Given the description of an element on the screen output the (x, y) to click on. 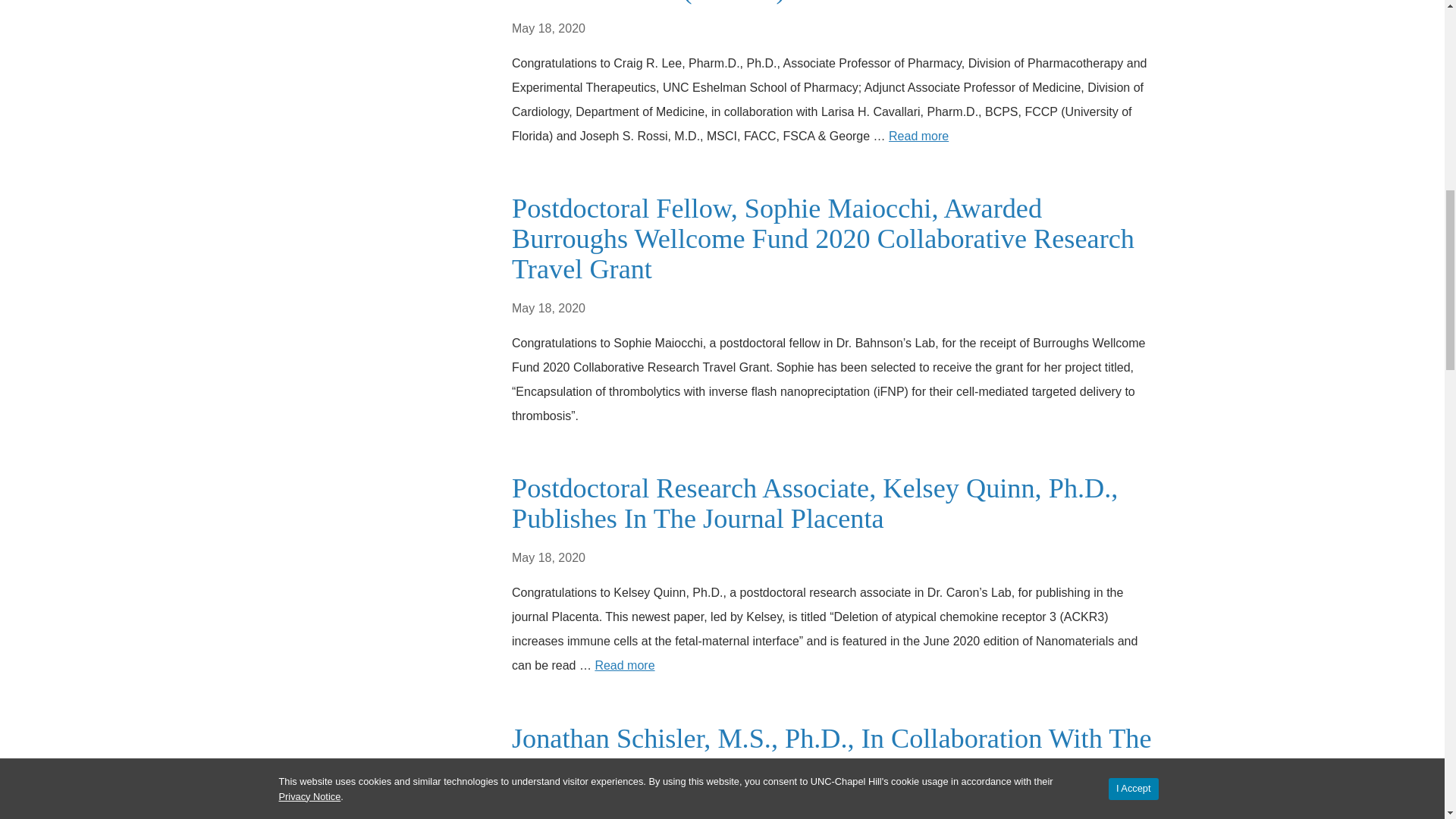
Read more (623, 665)
Read more (918, 134)
